Given the description of an element on the screen output the (x, y) to click on. 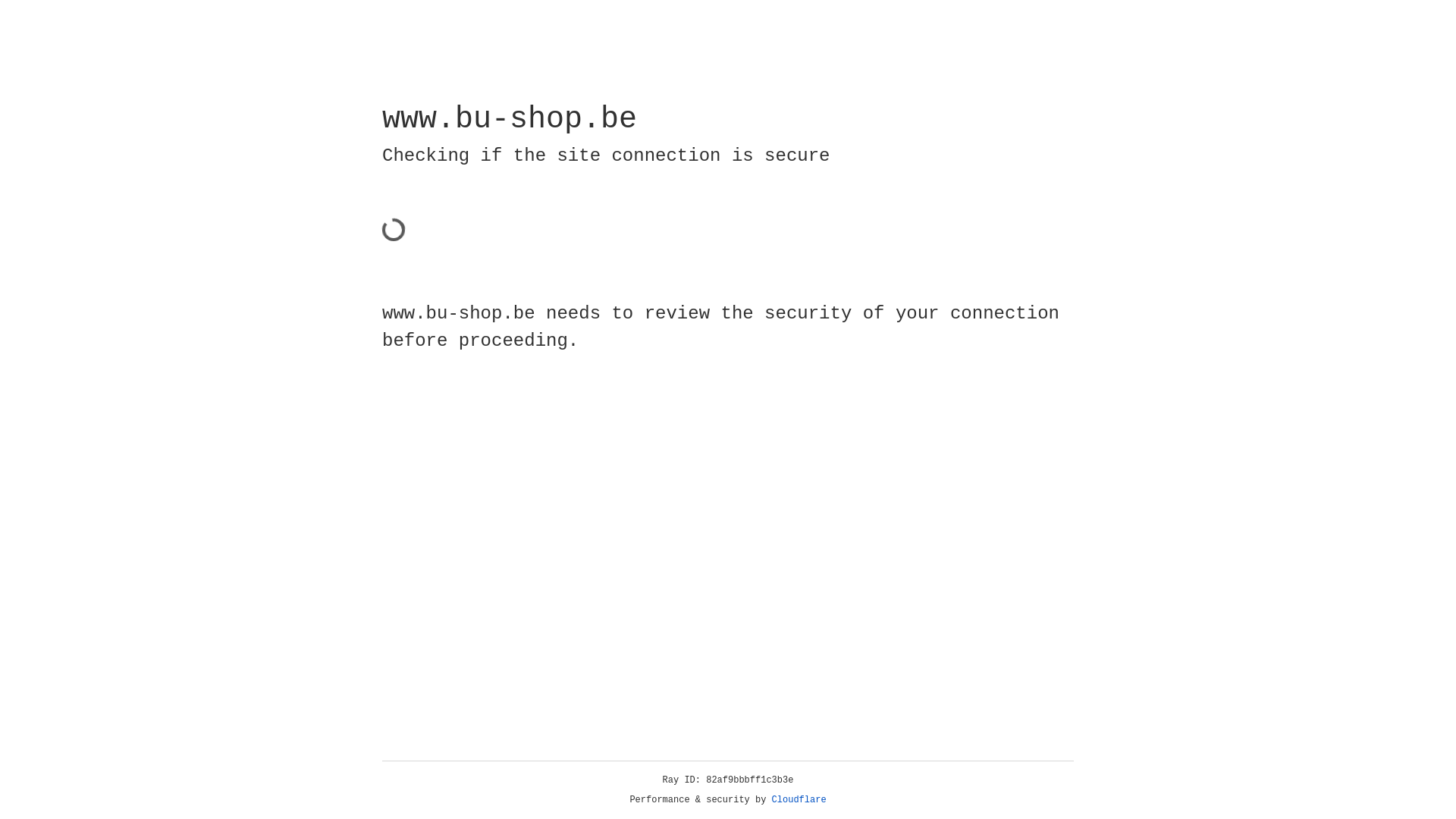
Cloudflare Element type: text (798, 799)
